Given the description of an element on the screen output the (x, y) to click on. 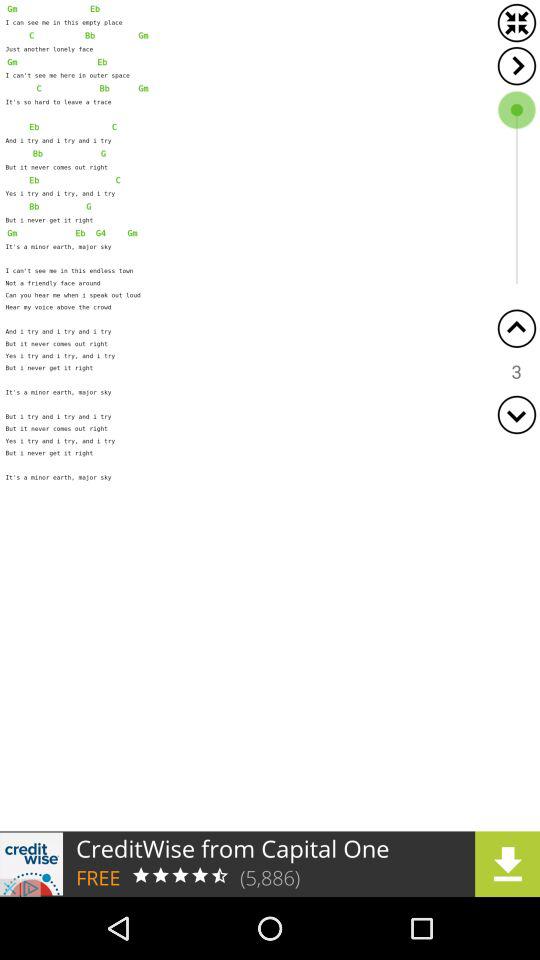
go upwards (516, 328)
